Given the description of an element on the screen output the (x, y) to click on. 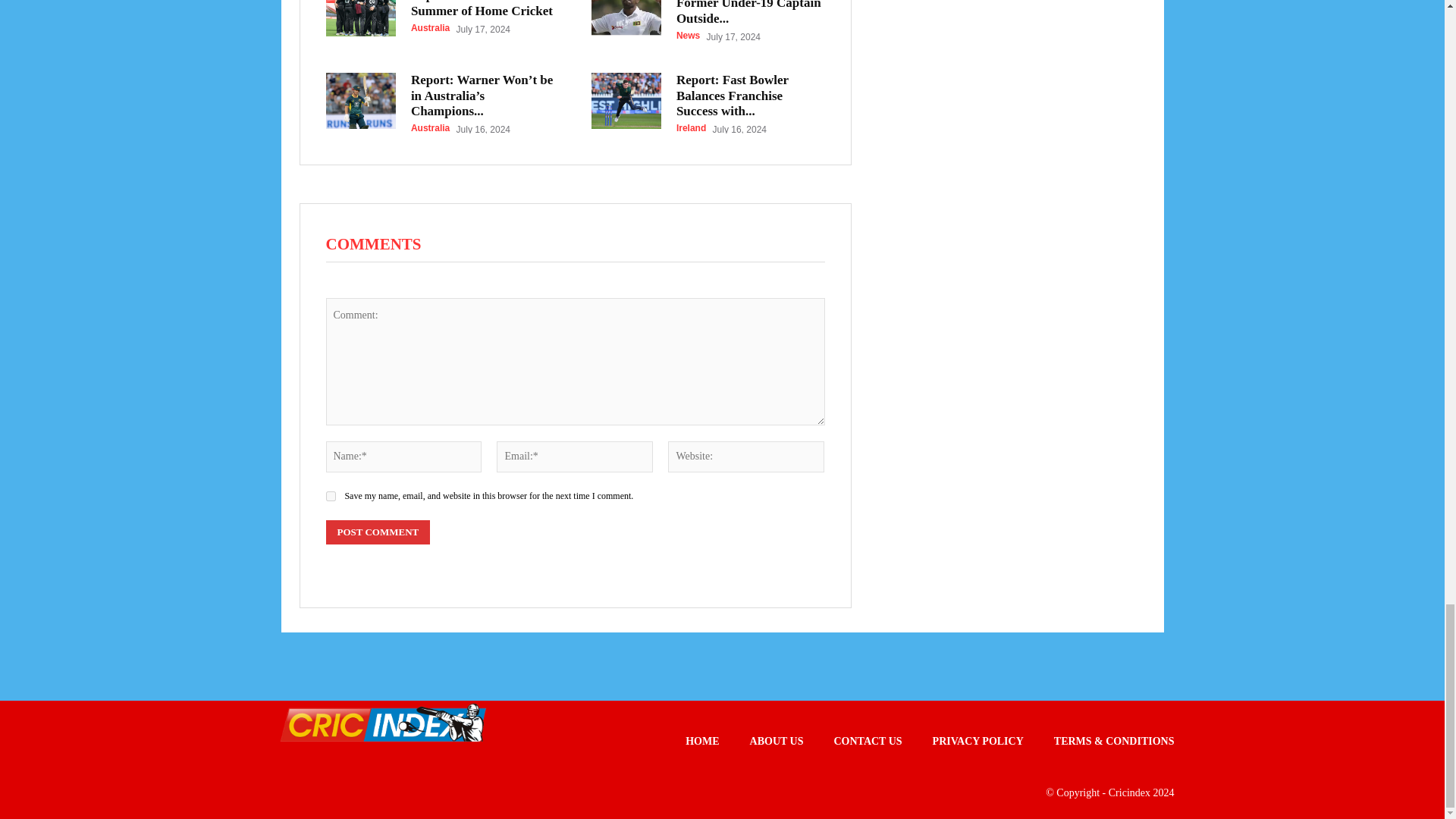
yes (331, 496)
Post Comment (378, 532)
